Given the description of an element on the screen output the (x, y) to click on. 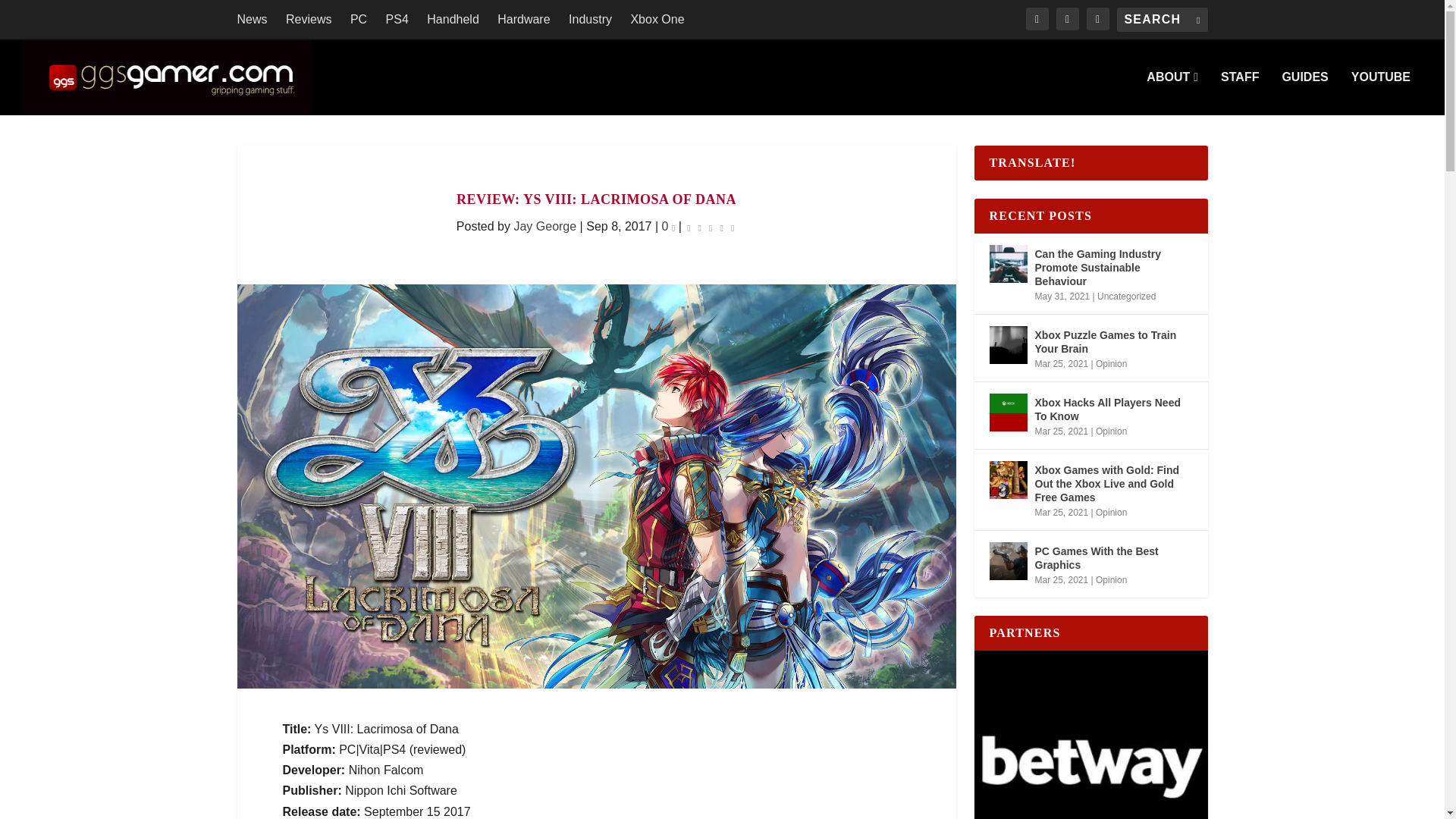
Posts by Jay George (544, 226)
Rating: 0.00 (710, 227)
Jay George (544, 226)
Industry (590, 19)
Xbox One (657, 19)
Handheld (452, 19)
Search for: (1161, 19)
GUIDES (1304, 93)
0 (668, 226)
Hardware (523, 19)
